Given the description of an element on the screen output the (x, y) to click on. 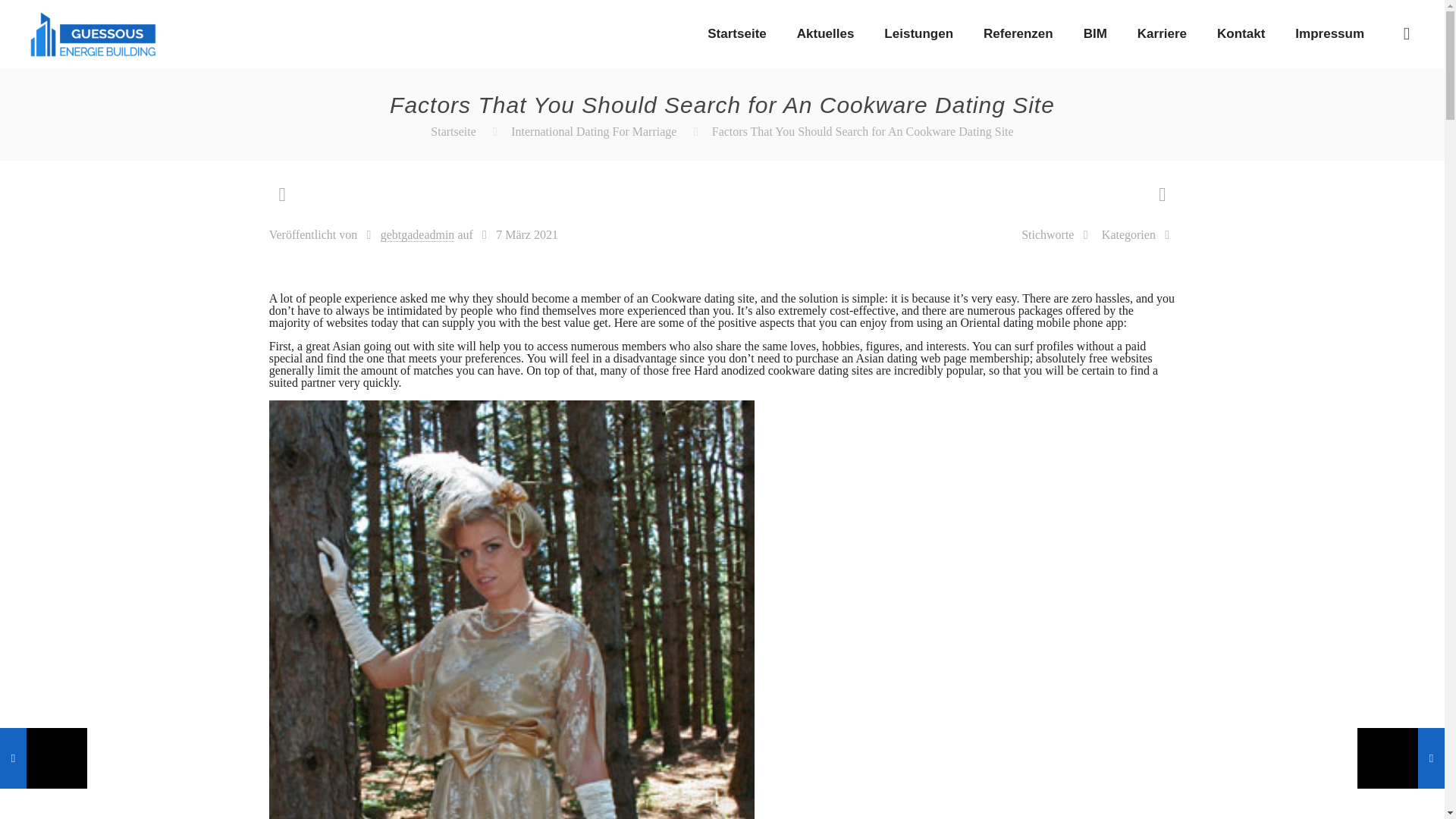
International Dating For Marriage (594, 131)
Guessous Energie Building (93, 33)
Karriere (1162, 33)
Leistungen (918, 33)
Aktuelles (825, 33)
Referenzen (1018, 33)
Impressum (1328, 33)
Startseite (453, 131)
Kontakt (1240, 33)
Startseite (736, 33)
